Given the description of an element on the screen output the (x, y) to click on. 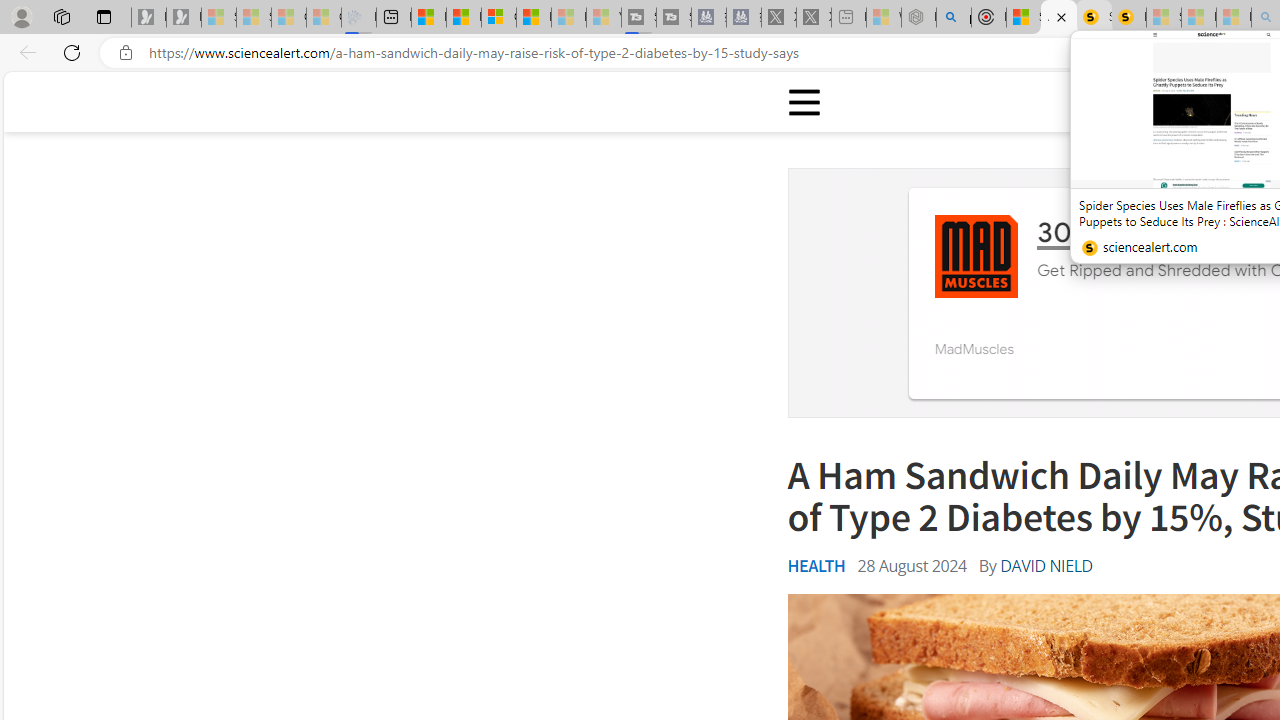
Main menu (805, 102)
Newsletter Sign Up - Sleeping (183, 17)
